Given the description of an element on the screen output the (x, y) to click on. 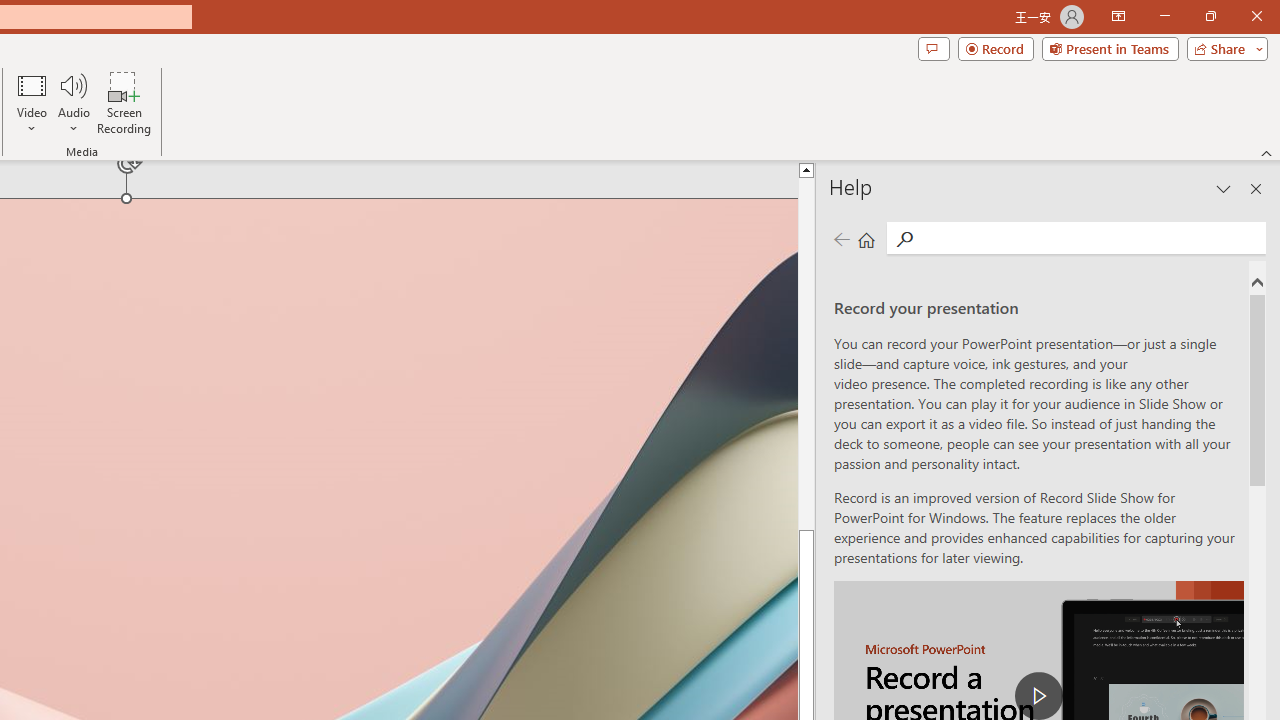
Previous page (841, 238)
Screen Recording... (123, 102)
Video (31, 102)
